Given the description of an element on the screen output the (x, y) to click on. 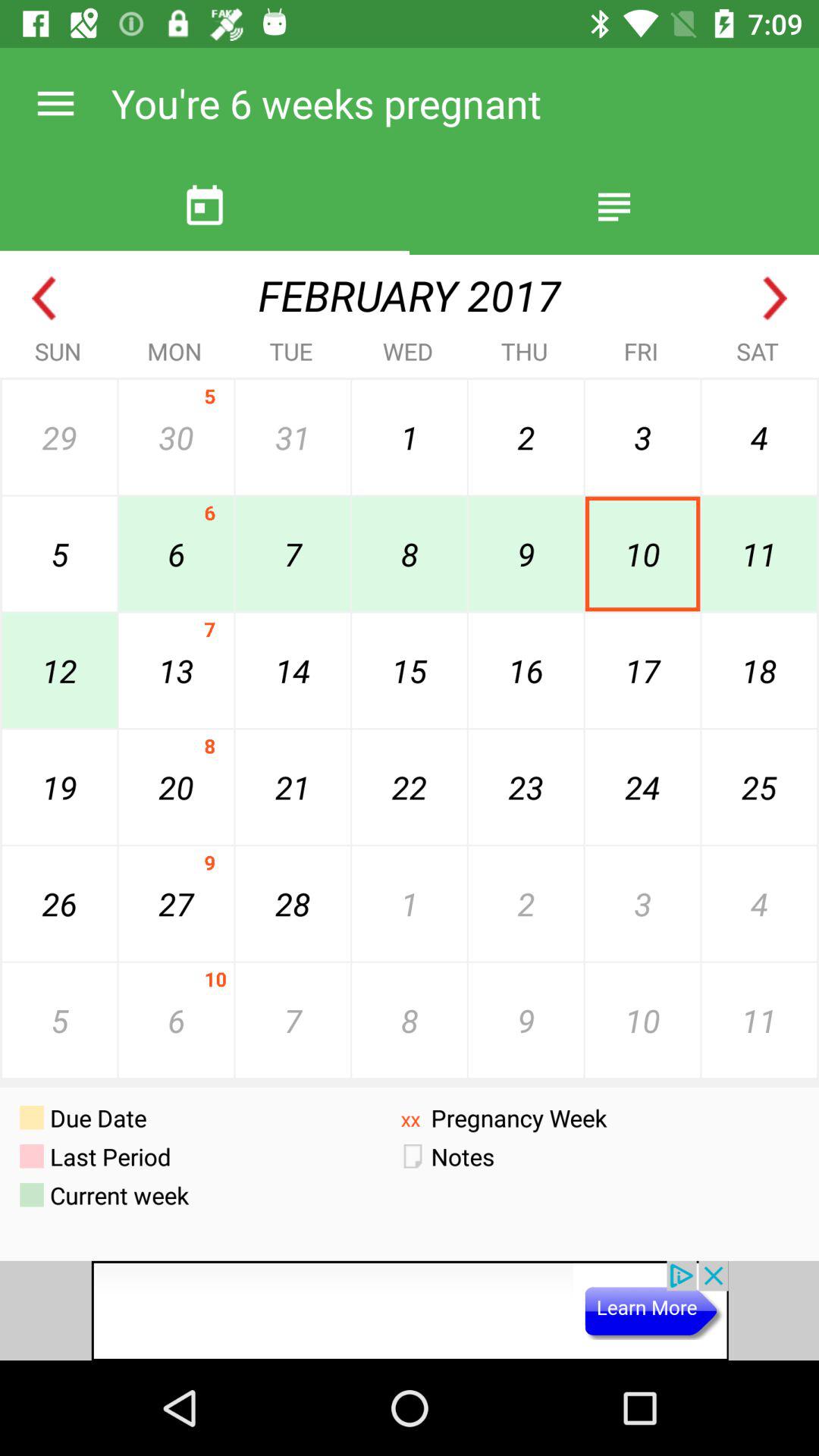
screen page (409, 1310)
